Given the description of an element on the screen output the (x, y) to click on. 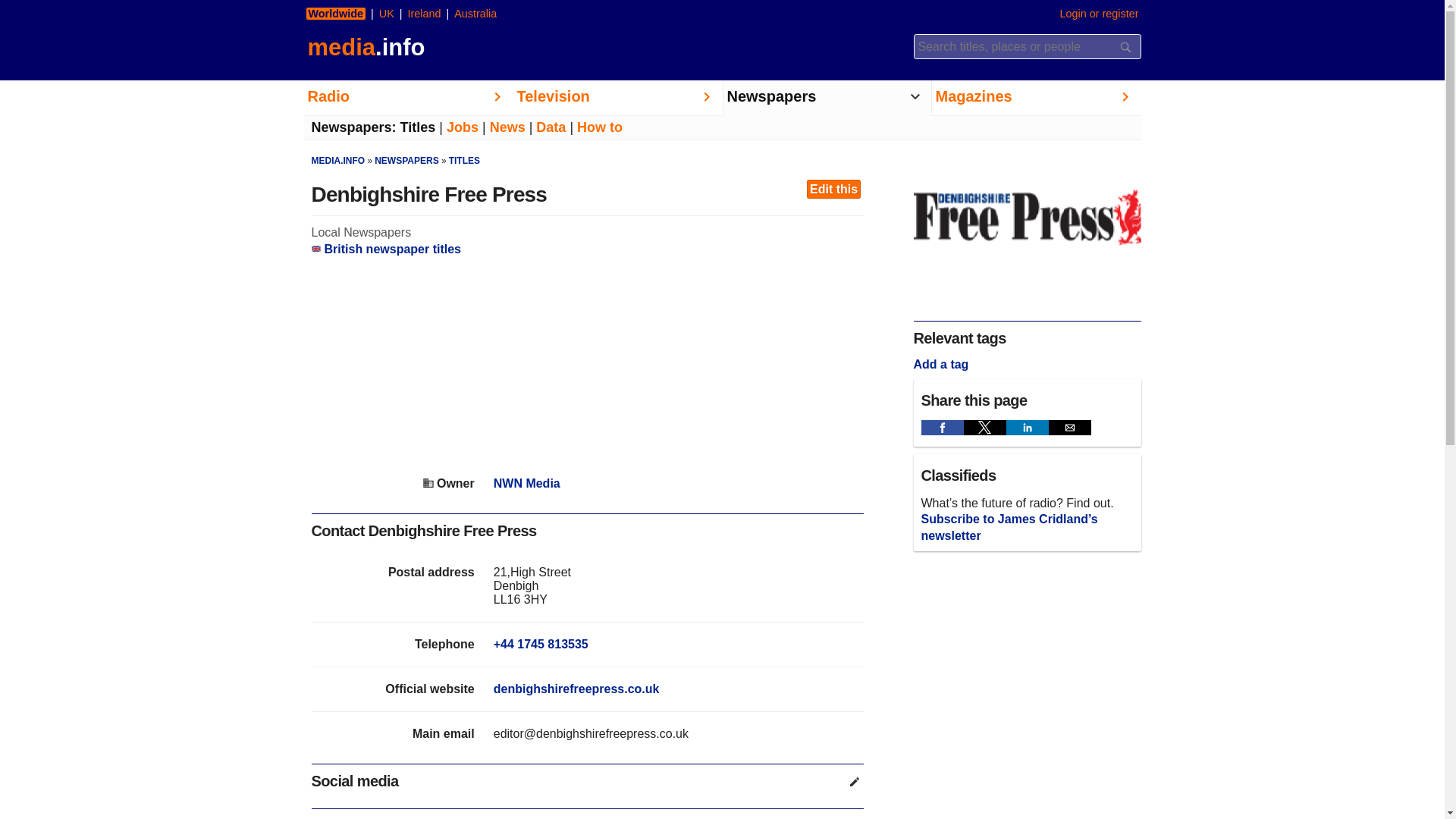
Newspapers (826, 98)
TITLES (464, 160)
Ireland (423, 13)
UK (386, 13)
3rd party ad content (587, 366)
NWN Media (526, 482)
Data (550, 127)
Australia (475, 13)
Magazines (1035, 98)
Titles (417, 127)
media.info (363, 47)
How to (599, 127)
Newspapers: (353, 127)
Jobs (462, 127)
denbighshirefreepress.co.uk (576, 688)
